Given the description of an element on the screen output the (x, y) to click on. 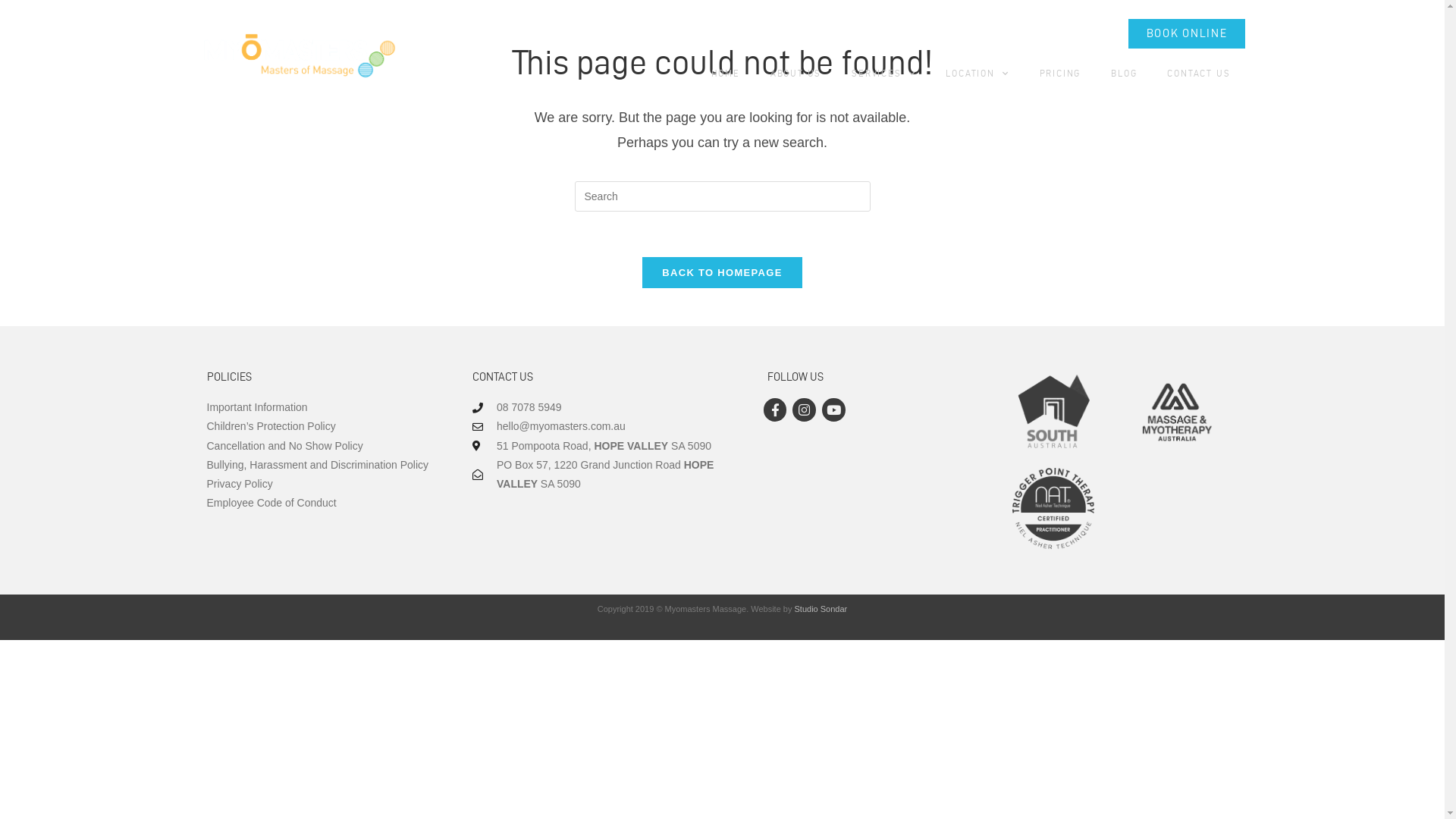
BOOK ONLINE Element type: text (1186, 33)
Studio Sondar Element type: text (820, 608)
08 7078 5949 Element type: text (603, 407)
SERVICES Element type: text (883, 73)
ABOUT US Element type: text (795, 73)
LOCATION Element type: text (976, 73)
Cancellation and No Show Policy Element type: text (323, 445)
BACK TO HOMEPAGE Element type: text (721, 272)
hello@myomasters.com.au Element type: text (603, 426)
51 Pompoota Road, HOPE VALLEY SA 5090 Element type: text (603, 445)
Employee Code of Conduct Element type: text (323, 502)
HOME Element type: text (725, 73)
BLOG Element type: text (1123, 73)
Bullying, Harassment and Discrimination Policy Element type: text (323, 464)
Privacy Policy Element type: text (323, 483)
CONTACT US Element type: text (1198, 73)
PRICING Element type: text (1060, 73)
Important Information Element type: text (323, 407)
